Given the description of an element on the screen output the (x, y) to click on. 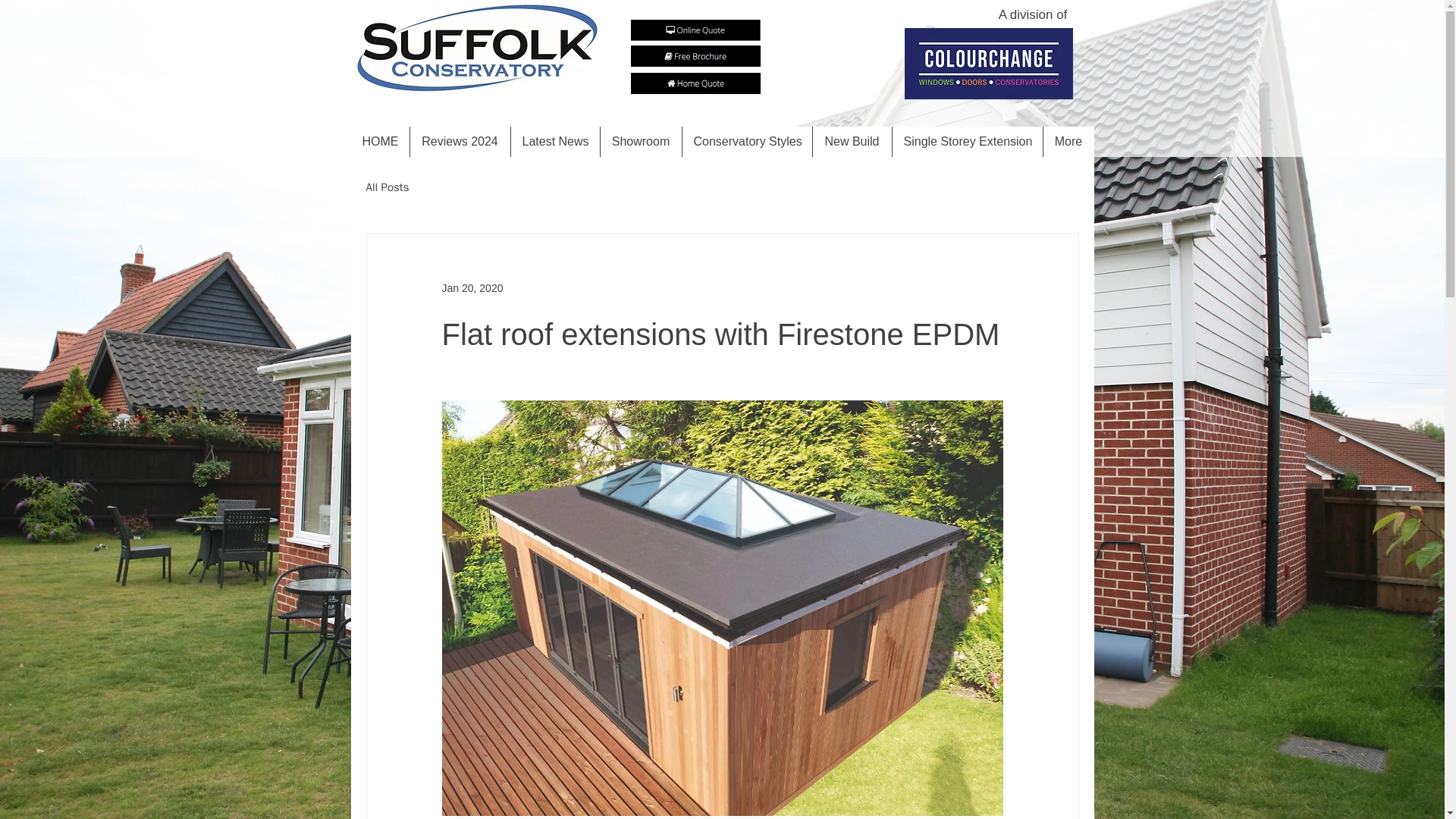
HOME (379, 141)
Latest News (553, 141)
Reviews 2024 (460, 141)
Showroom (639, 141)
New Build (850, 141)
Single Storey Extension (966, 141)
Jan 20, 2020 (471, 287)
Conservatory Styles (745, 141)
